Given the description of an element on the screen output the (x, y) to click on. 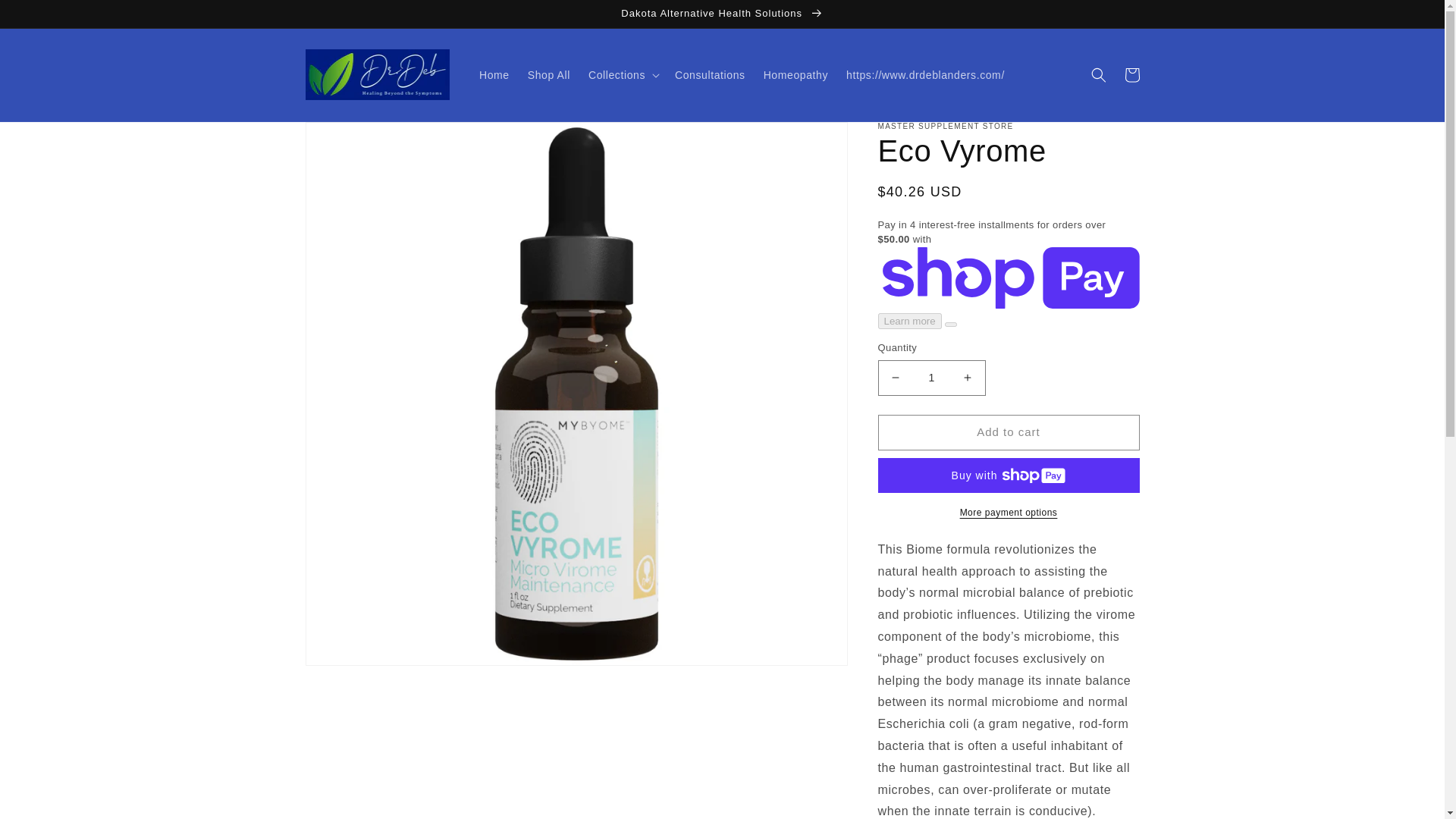
1 (931, 377)
Home (494, 74)
Homeopathy (795, 74)
Skip to content (45, 17)
Consultations (709, 74)
Shop All (548, 74)
